Given the description of an element on the screen output the (x, y) to click on. 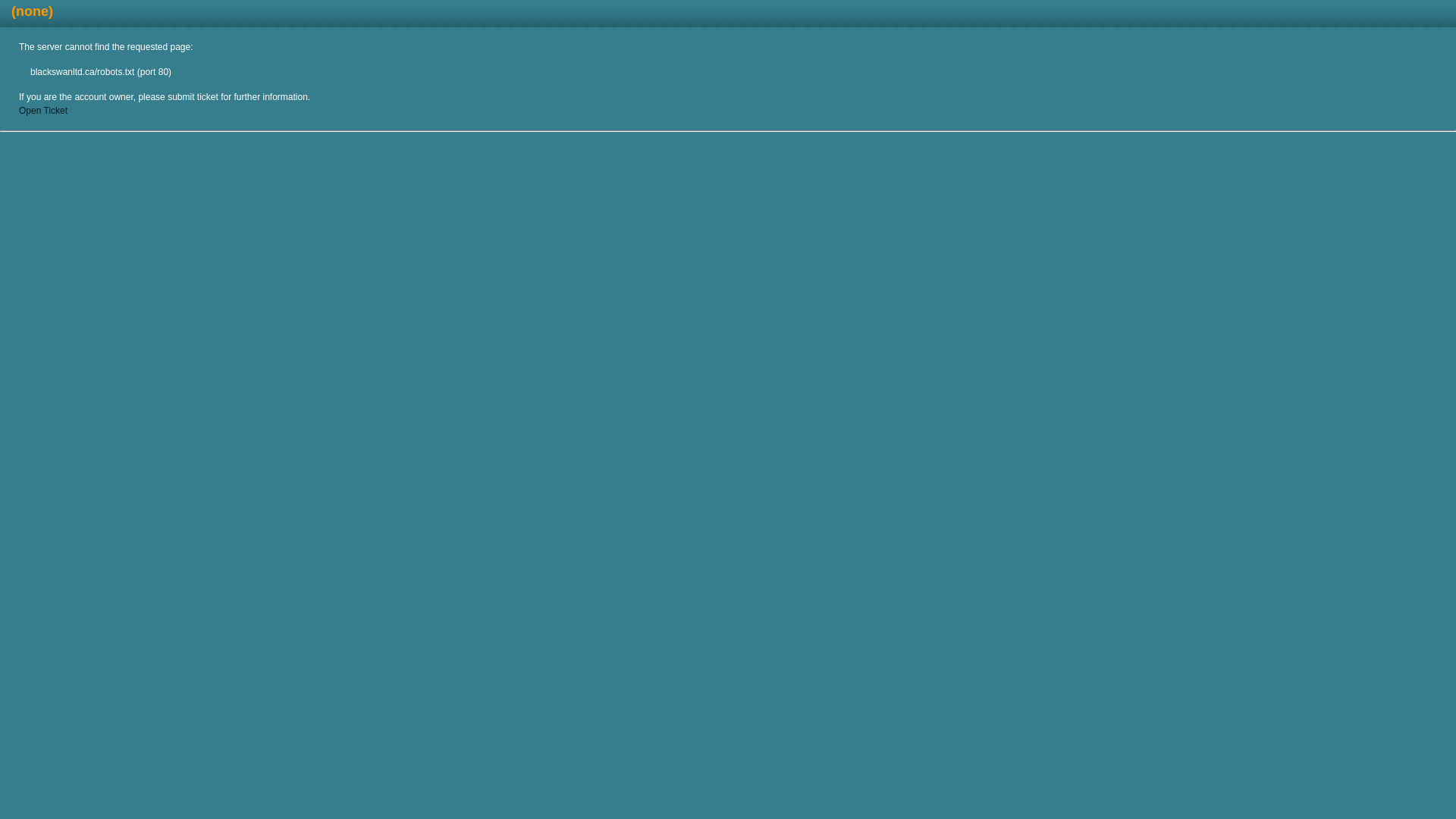
Open Ticket Element type: text (42, 110)
